Given the description of an element on the screen output the (x, y) to click on. 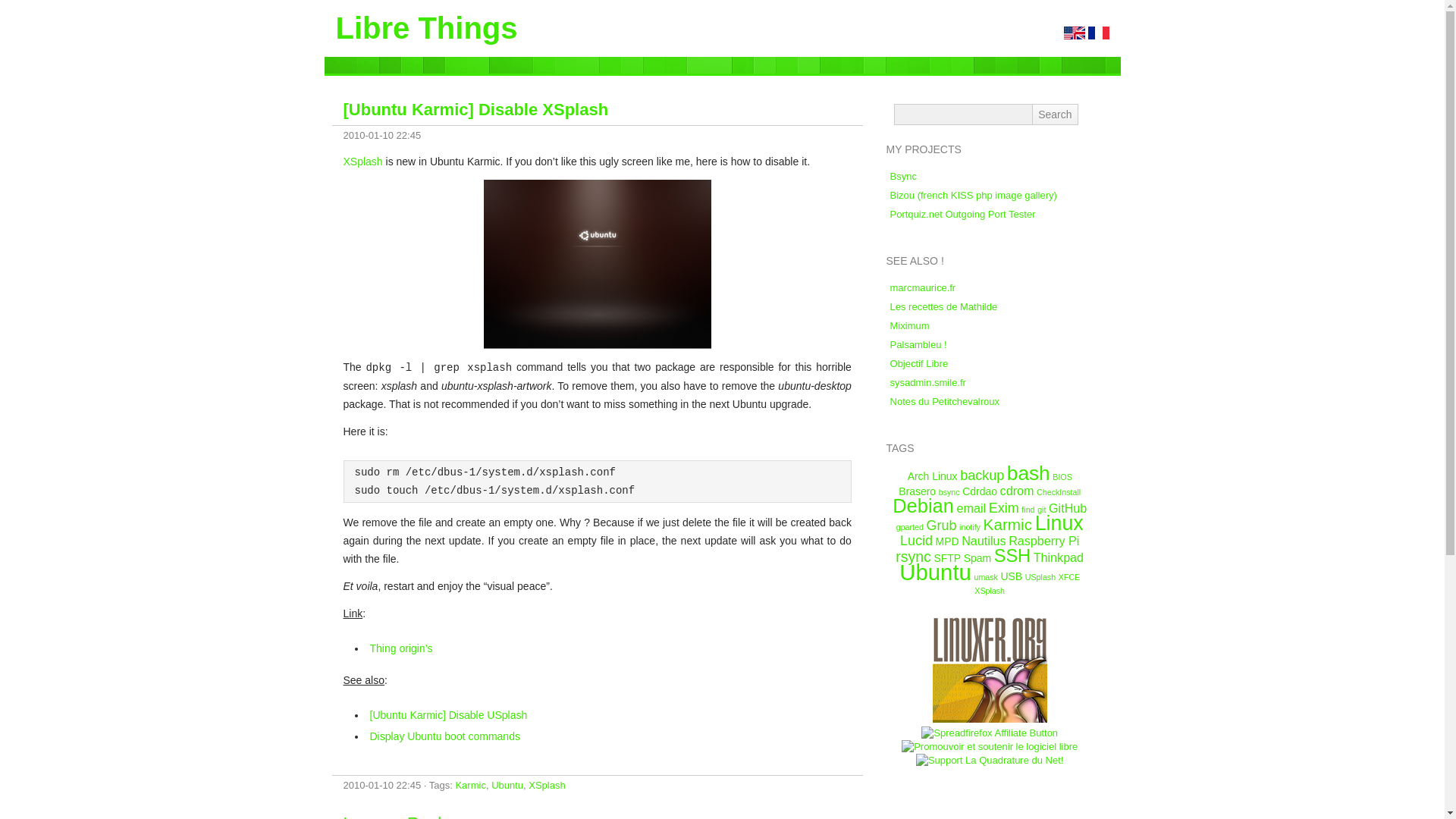
Portquiz.net Outgoing Port Tester (962, 214)
backup (981, 475)
13 topics (1028, 472)
CheckInstall (1058, 491)
XSplash (546, 785)
Bsync (903, 175)
Les recettes de Mathilde (943, 306)
marcmaurice.fr (922, 287)
Karmic (469, 785)
Libre Things (425, 28)
Recettes en tous genre, que du bon ! (943, 306)
Notes du Petitchevalroux (944, 401)
1 topic (1061, 476)
4 topics (981, 475)
Arch Linux (932, 476)
